Given the description of an element on the screen output the (x, y) to click on. 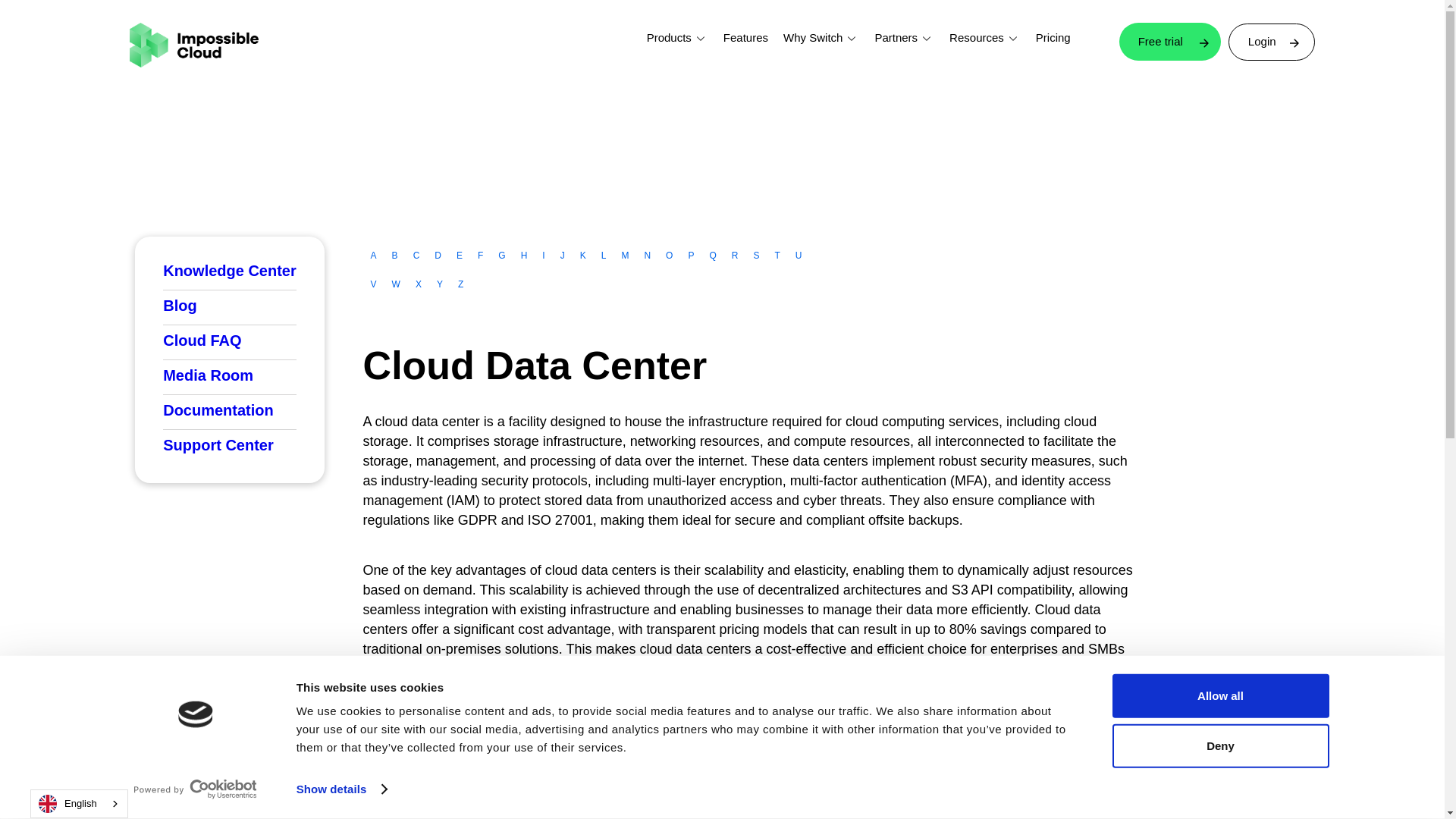
Show details (341, 789)
